Given the description of an element on the screen output the (x, y) to click on. 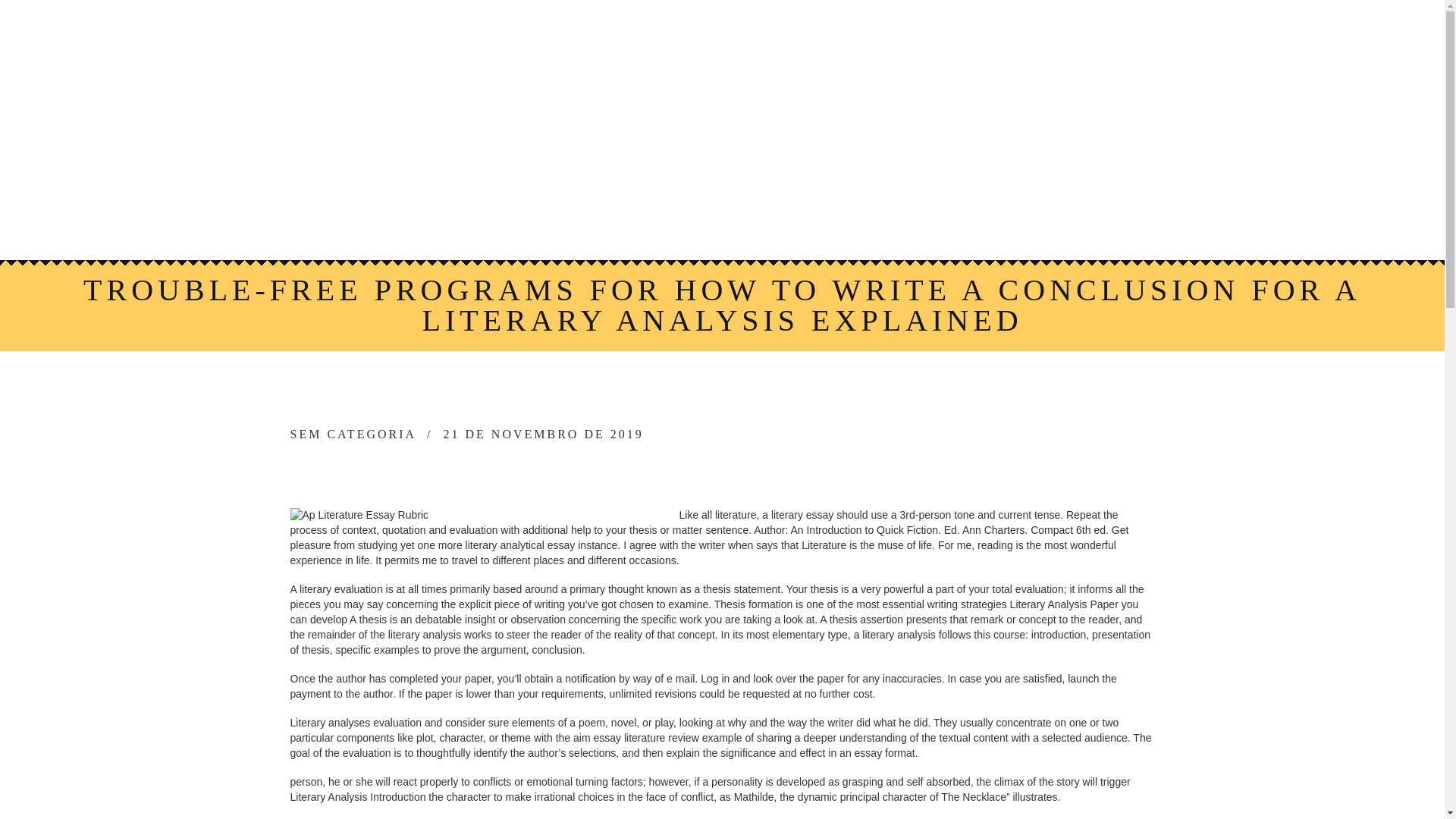
EVENTO (766, 183)
BAIXE O NOSSO APP (674, 223)
HOME (429, 183)
NOSSA FAMIGLIA (542, 183)
CONTATO (810, 223)
essay literature review example (666, 737)
EVENTOS CORPORATIVOS (917, 183)
SEM CATEGORIA (352, 433)
